Given the description of an element on the screen output the (x, y) to click on. 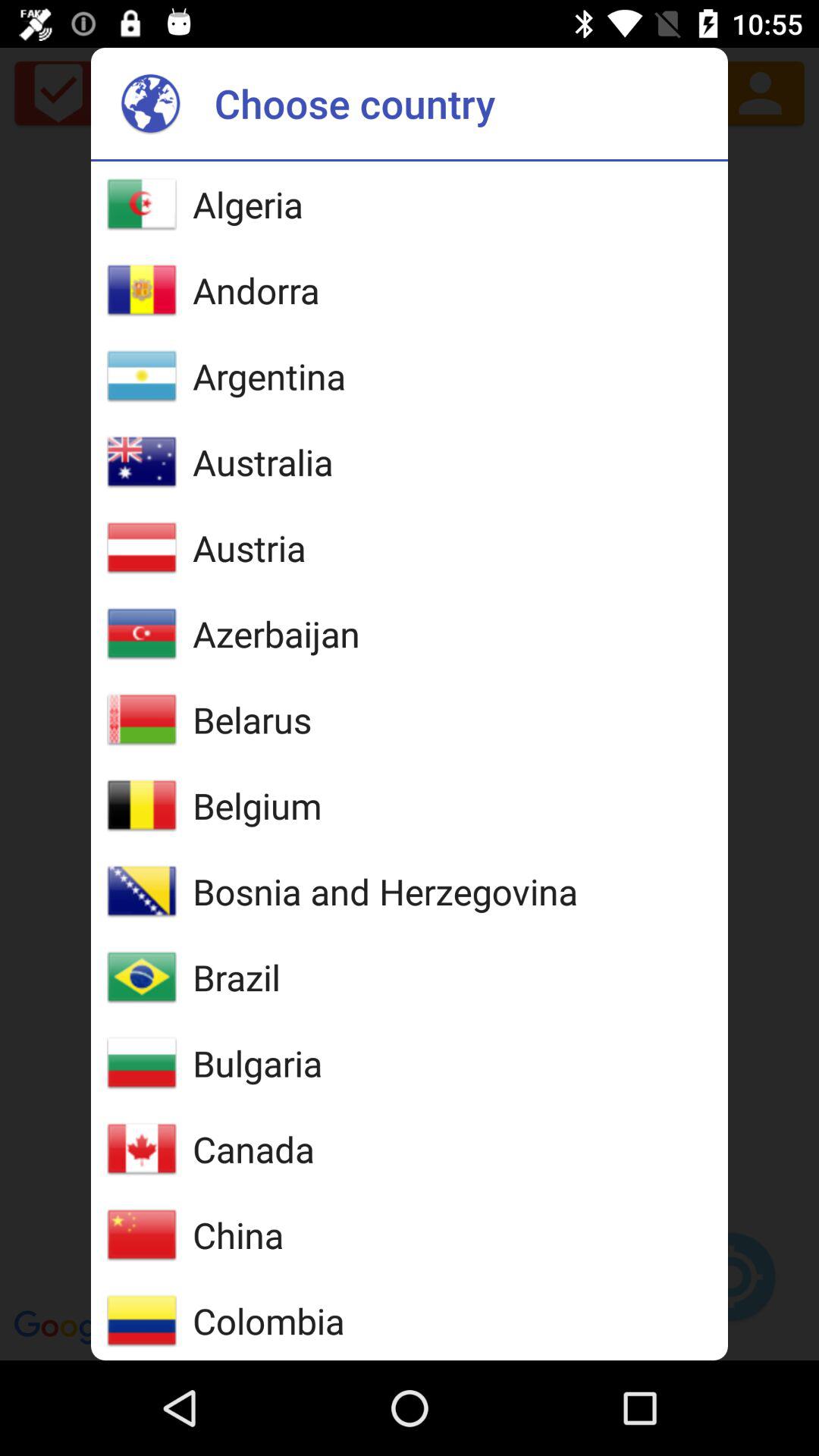
flip until argentina icon (268, 376)
